Given the description of an element on the screen output the (x, y) to click on. 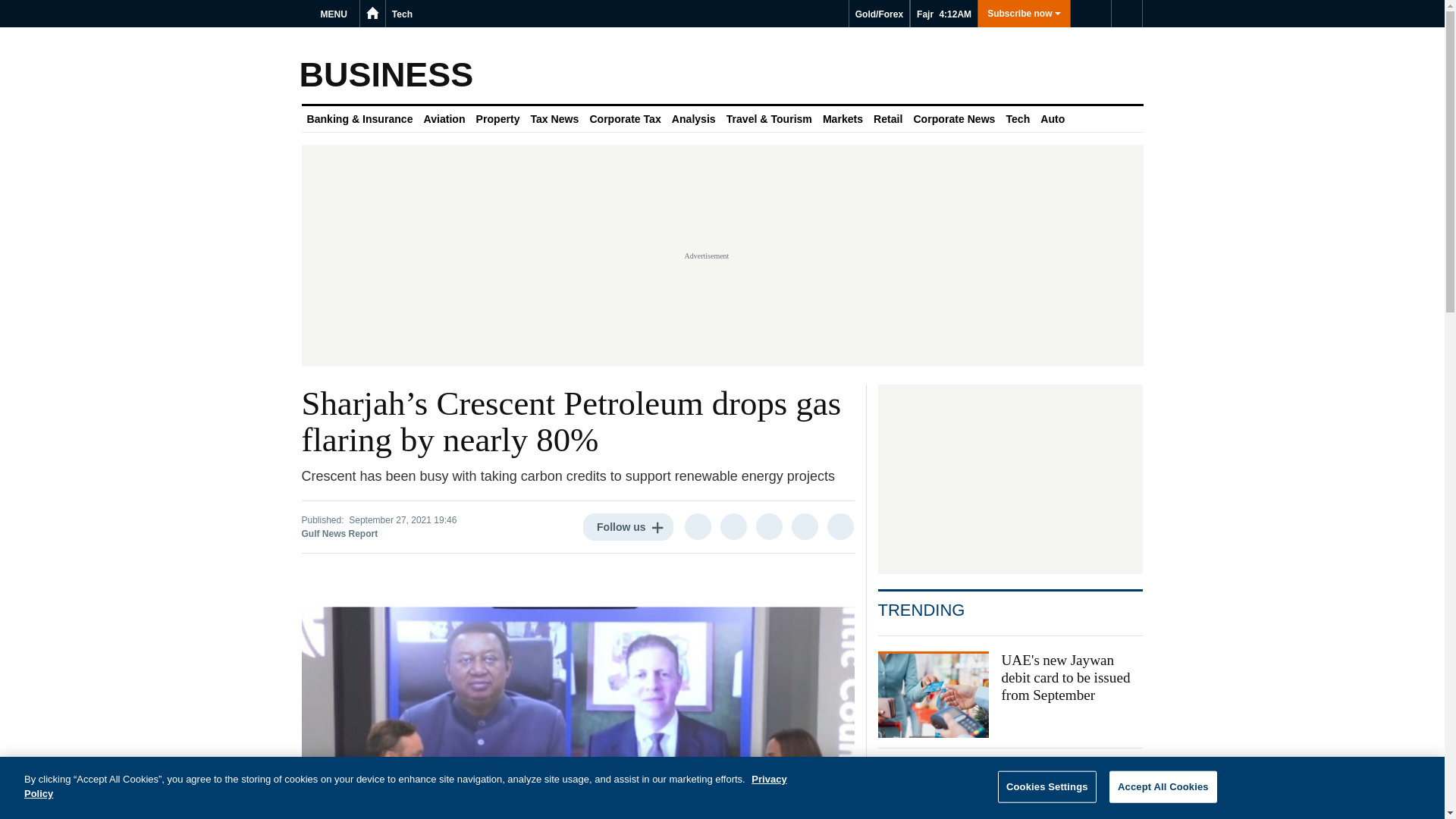
MENU (336, 13)
Fajr 4:12AM (943, 13)
Tech (402, 13)
Subscribe now (1024, 13)
